Given the description of an element on the screen output the (x, y) to click on. 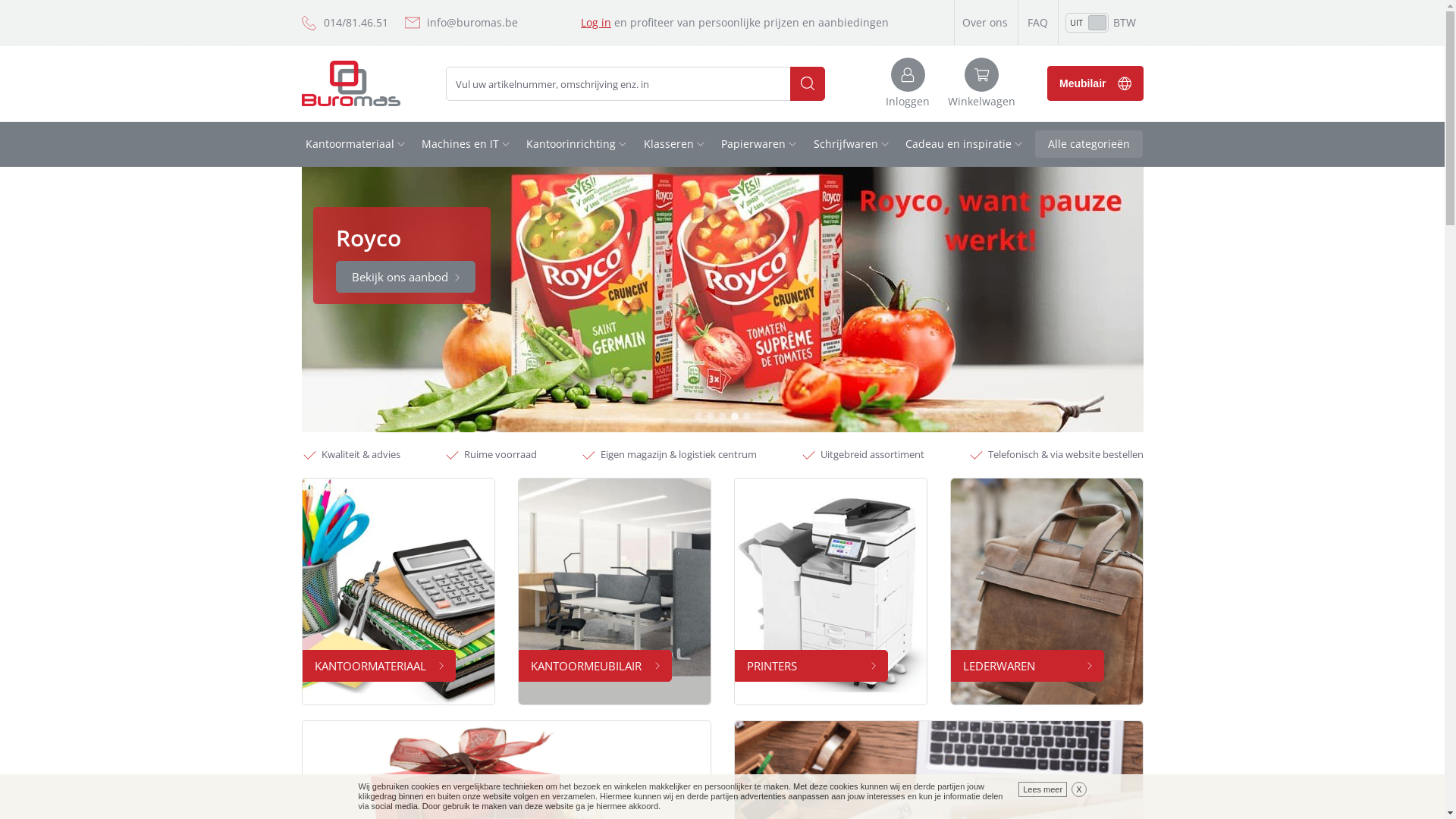
Lees meer Element type: text (1042, 788)
Winkelwagen Element type: text (981, 83)
Machines en IT Element type: text (466, 143)
Log in en profiteer van persoonlijke prijzen en aanbiedingen Element type: text (734, 22)
PRINTERS Element type: text (810, 665)
Klasseren Element type: text (675, 143)
Bekijk ons aanbod Element type: text (404, 276)
Inloggen Element type: text (907, 83)
KANTOORMEUBILAIR Element type: text (594, 665)
UITAAN
BTW Element type: text (1100, 21)
LEDERWAREN Element type: text (1027, 665)
Kantoorinrichting Element type: text (577, 143)
Papierwaren Element type: text (759, 143)
info@buromas.be Element type: text (471, 22)
3-maandelijkse promo meubilair Element type: text (477, 303)
Over ons Element type: text (984, 21)
Buromas Element type: hover (350, 83)
Kantoormateriaal Element type: text (356, 143)
Schrijfwaren Element type: text (851, 143)
Cadeau en inspiratie Element type: text (964, 143)
X Element type: text (1078, 789)
FAQ Element type: text (1037, 21)
014/81.46.51 Element type: text (355, 22)
Meubilair Element type: text (1094, 82)
KANTOORMATERIAAL Element type: text (378, 665)
